Given the description of an element on the screen output the (x, y) to click on. 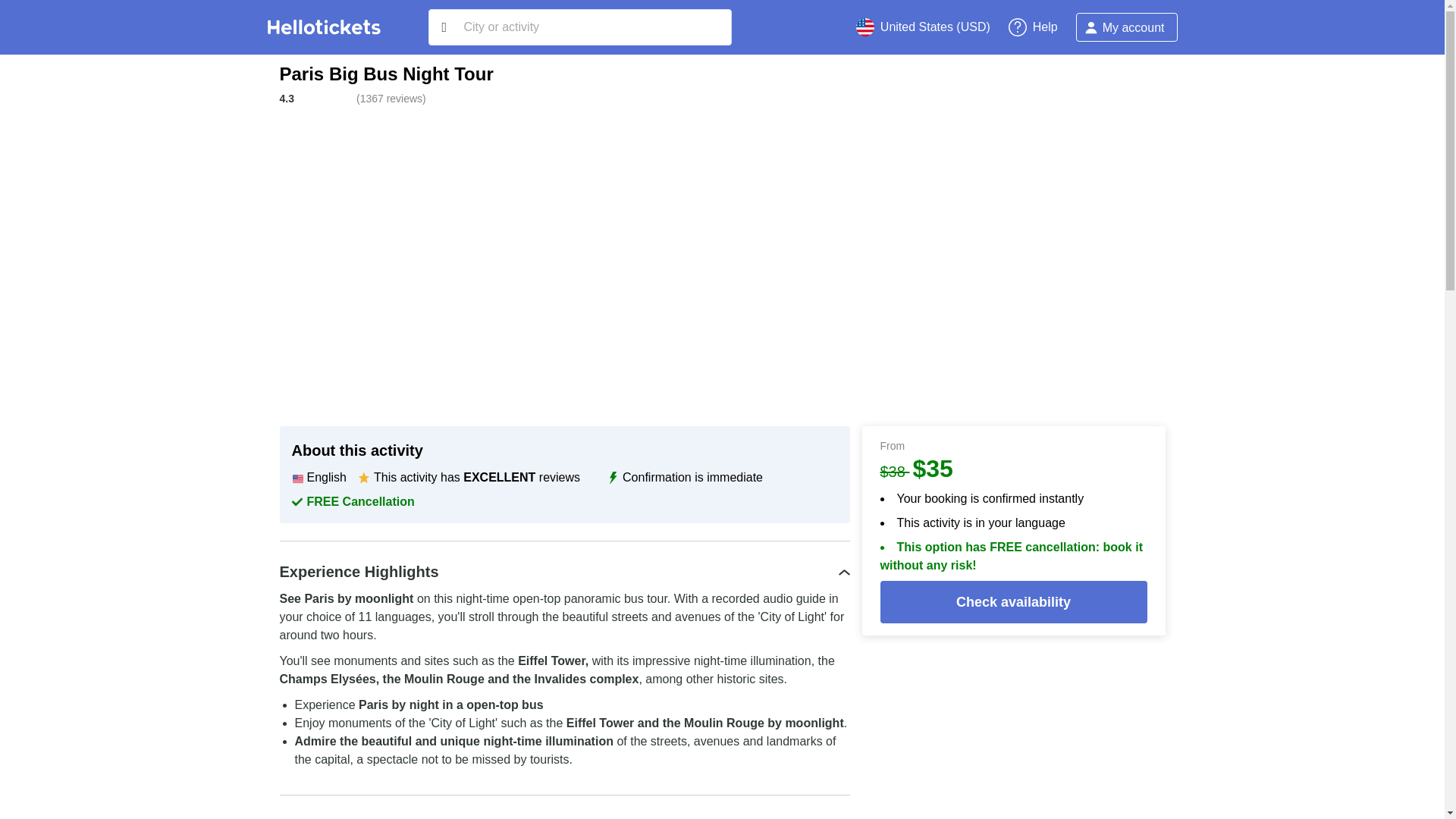
Check availability (1013, 601)
My account (1126, 27)
Help (1032, 27)
